Given the description of an element on the screen output the (x, y) to click on. 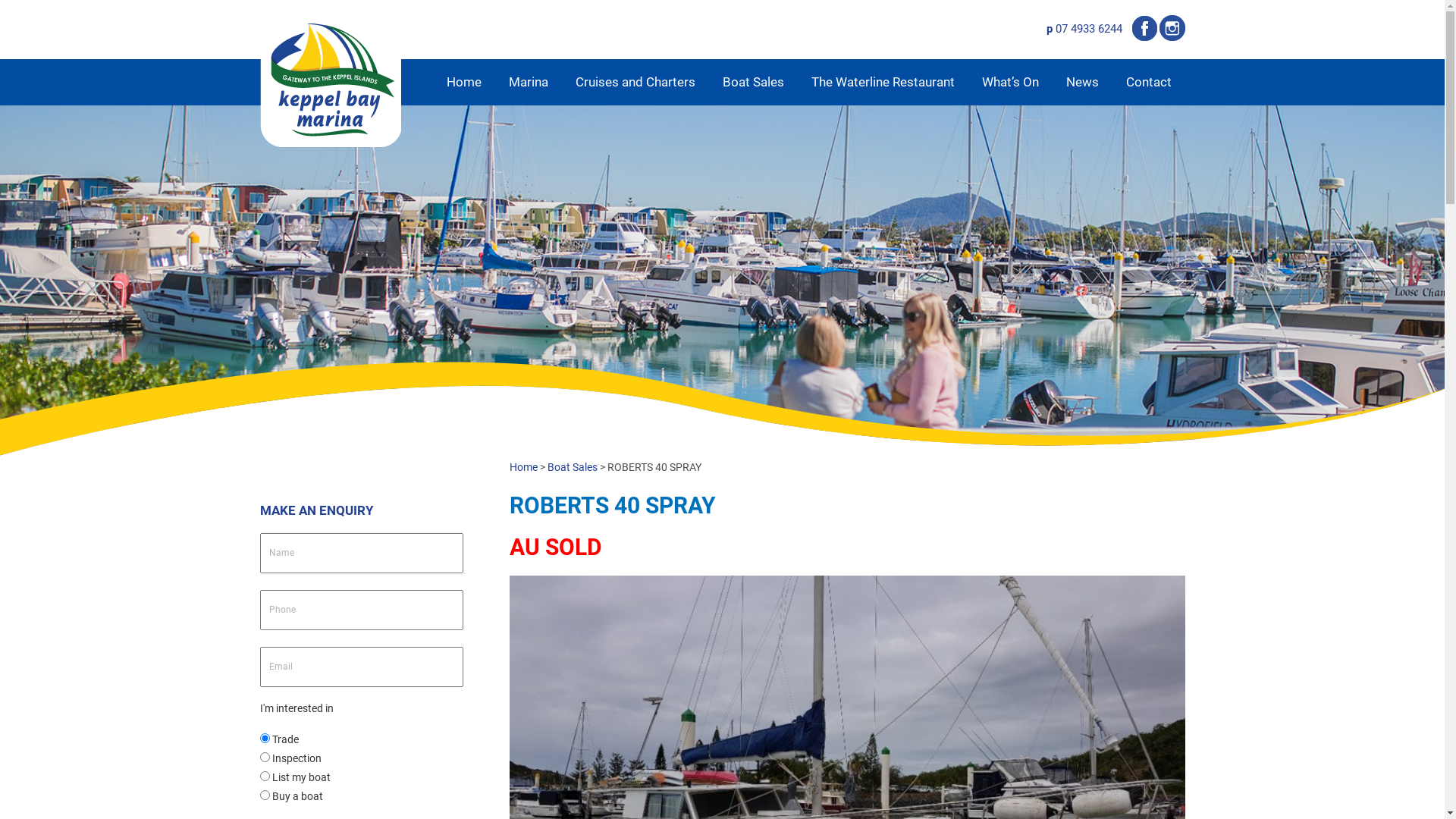
Cruises and Charters Element type: text (634, 82)
Home Element type: text (463, 82)
Boat Sales Element type: text (572, 467)
Home Element type: text (523, 467)
Boat Sales Element type: text (752, 82)
News Element type: text (1082, 82)
The Waterline Restaurant Element type: text (882, 82)
Marina Element type: text (527, 82)
Contact Element type: text (1147, 82)
